Given the description of an element on the screen output the (x, y) to click on. 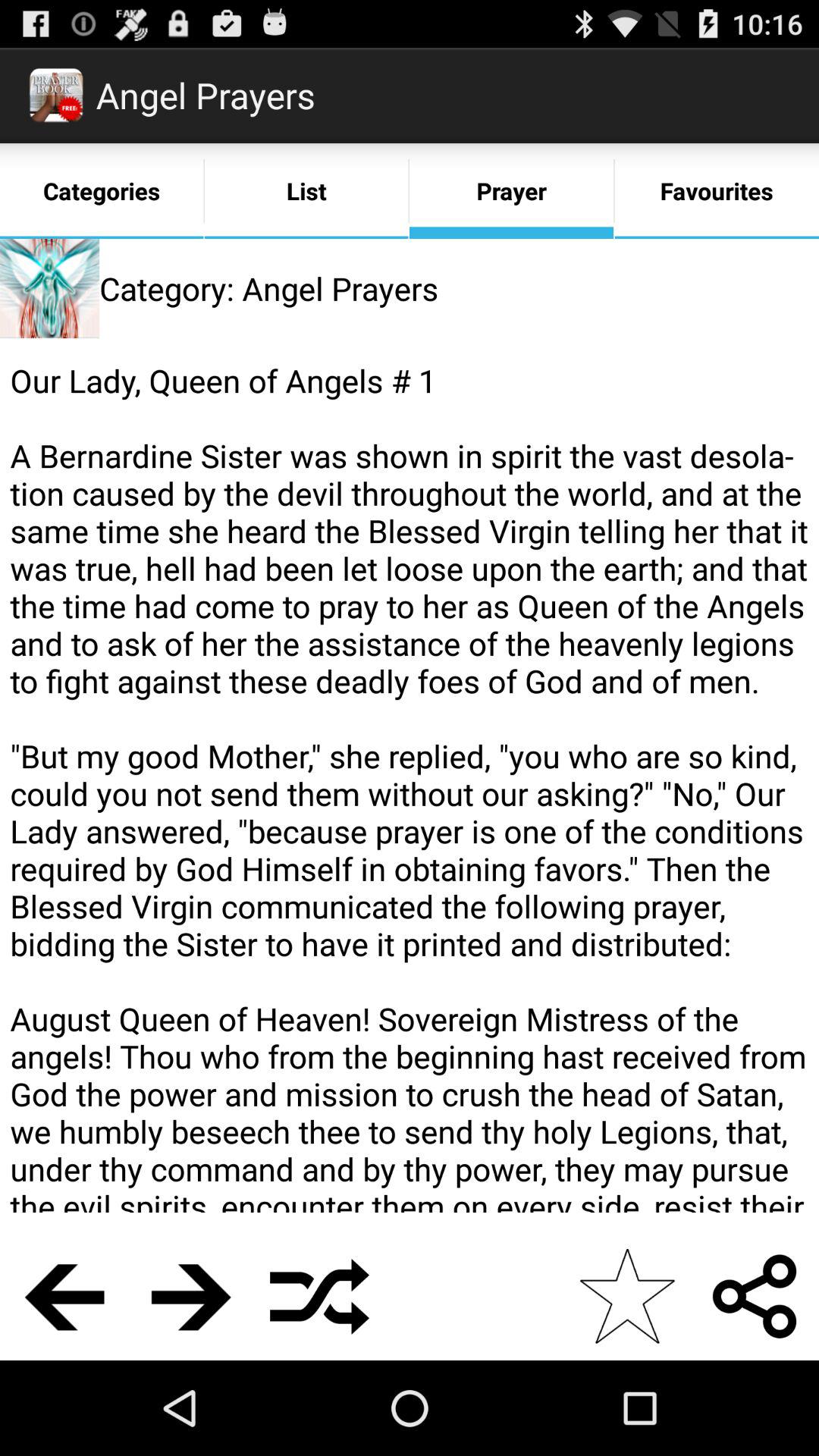
bookmark elements so they are easier to find when needed (626, 1296)
